Given the description of an element on the screen output the (x, y) to click on. 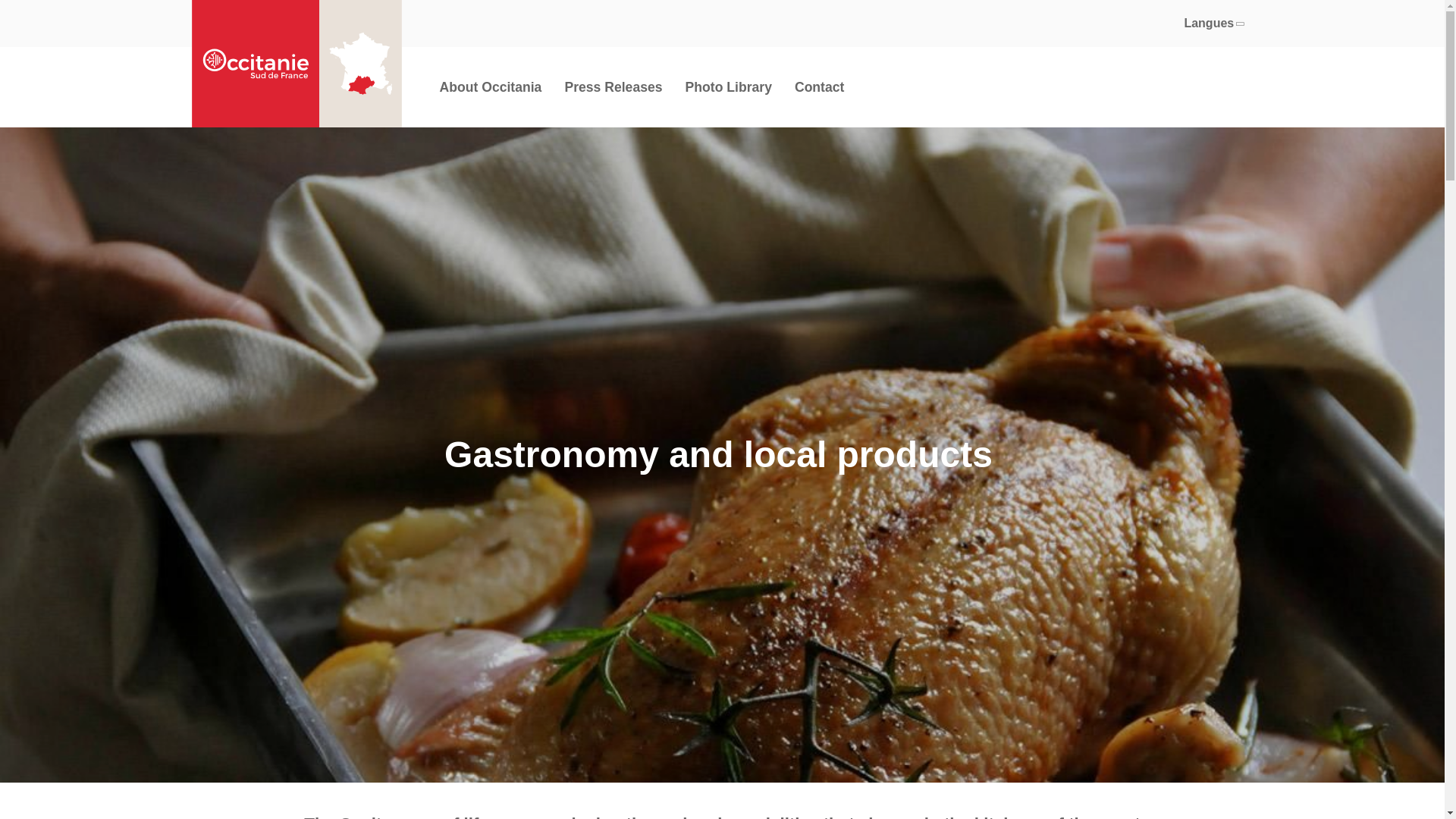
Accueil Tourisme Occitanie (295, 63)
Photo Library (728, 86)
Langues (1212, 22)
Press Releases (613, 86)
About Occitania (490, 86)
